Given the description of an element on the screen output the (x, y) to click on. 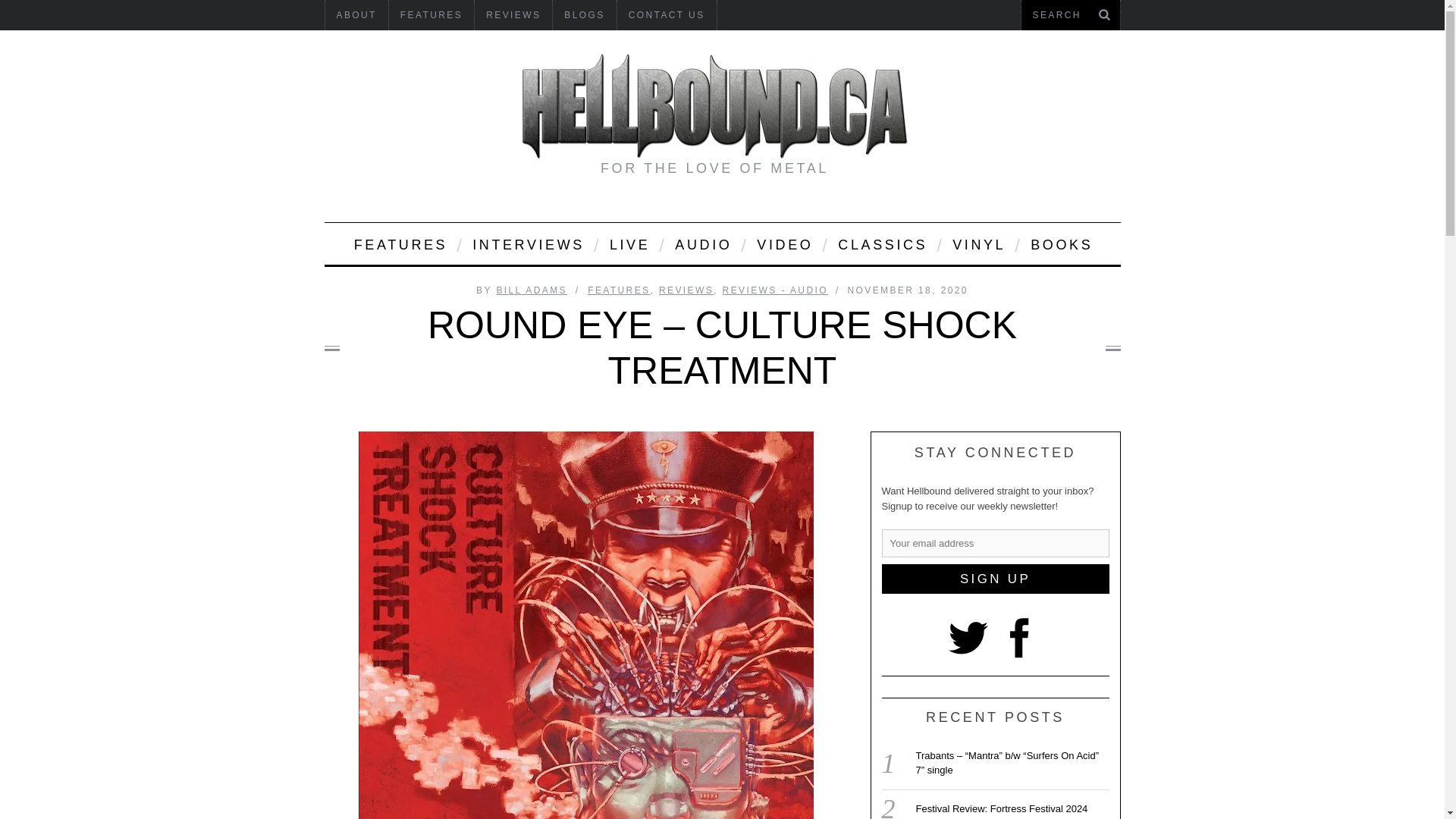
Hellbound.ca - FOR THE LOVE OF METAL (714, 106)
Posts by Bill Adams (531, 290)
Search (1070, 15)
Sign up (994, 578)
